Given the description of an element on the screen output the (x, y) to click on. 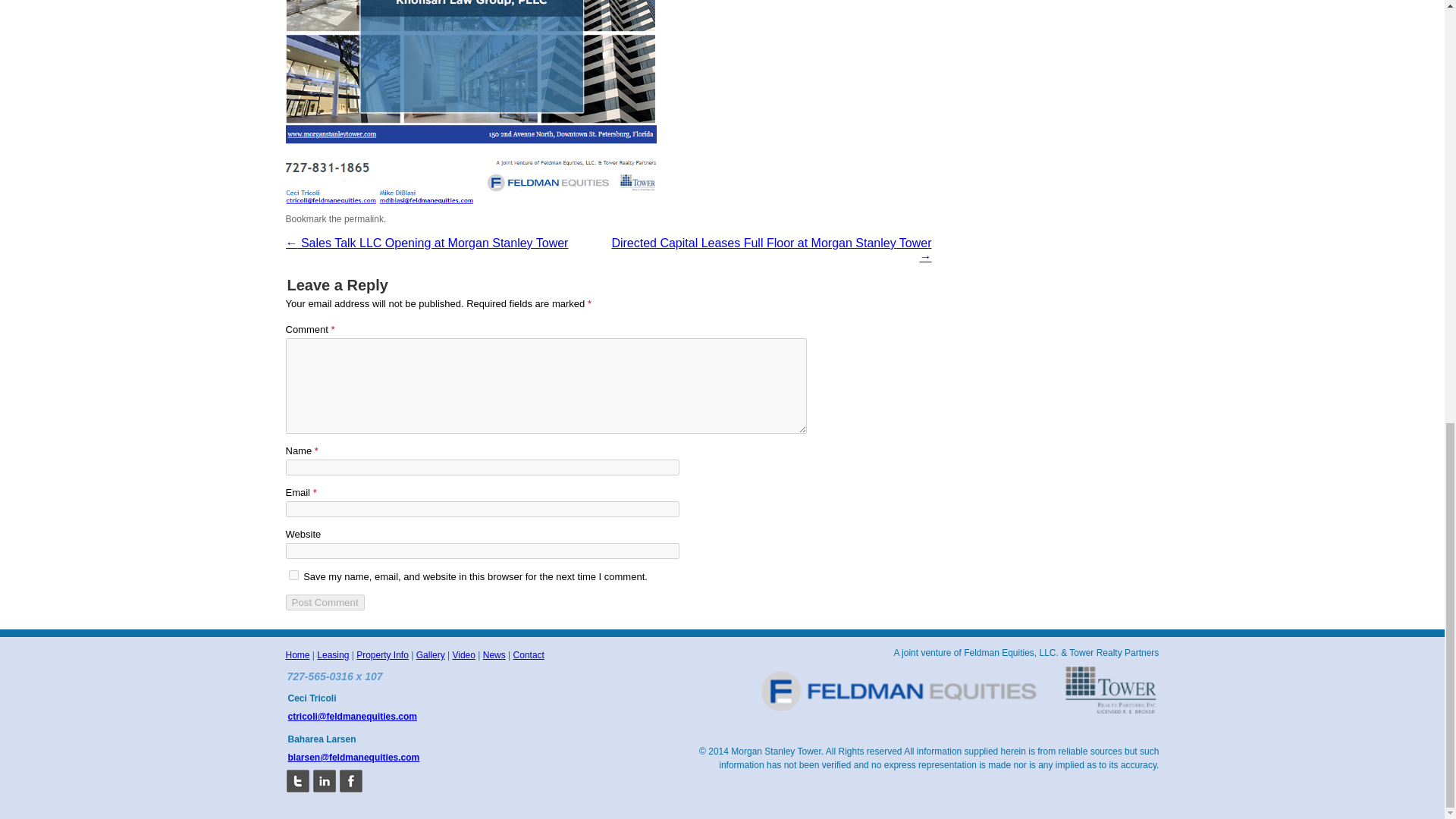
Gallery (430, 655)
Leasing (333, 655)
Post Comment (324, 602)
Property Info (382, 655)
permalink (363, 218)
Contact (528, 655)
News (494, 655)
yes (293, 574)
Video (462, 655)
Post Comment (324, 602)
Home (296, 655)
